Given the description of an element on the screen output the (x, y) to click on. 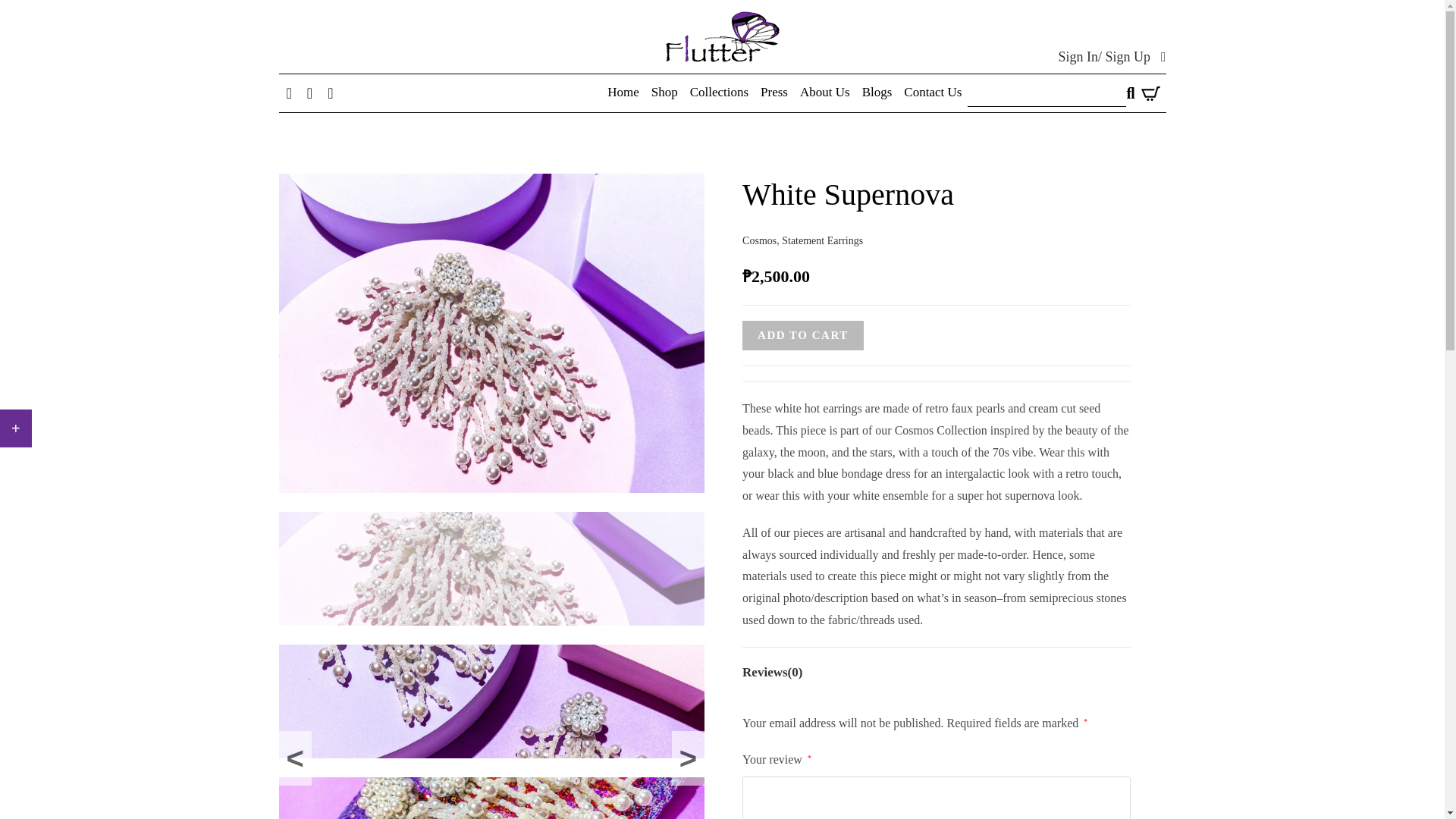
About Us (824, 93)
Collections (719, 93)
Blogs (877, 93)
Contact Us (933, 93)
Press (773, 93)
Home (623, 93)
Shop (664, 93)
